Given the description of an element on the screen output the (x, y) to click on. 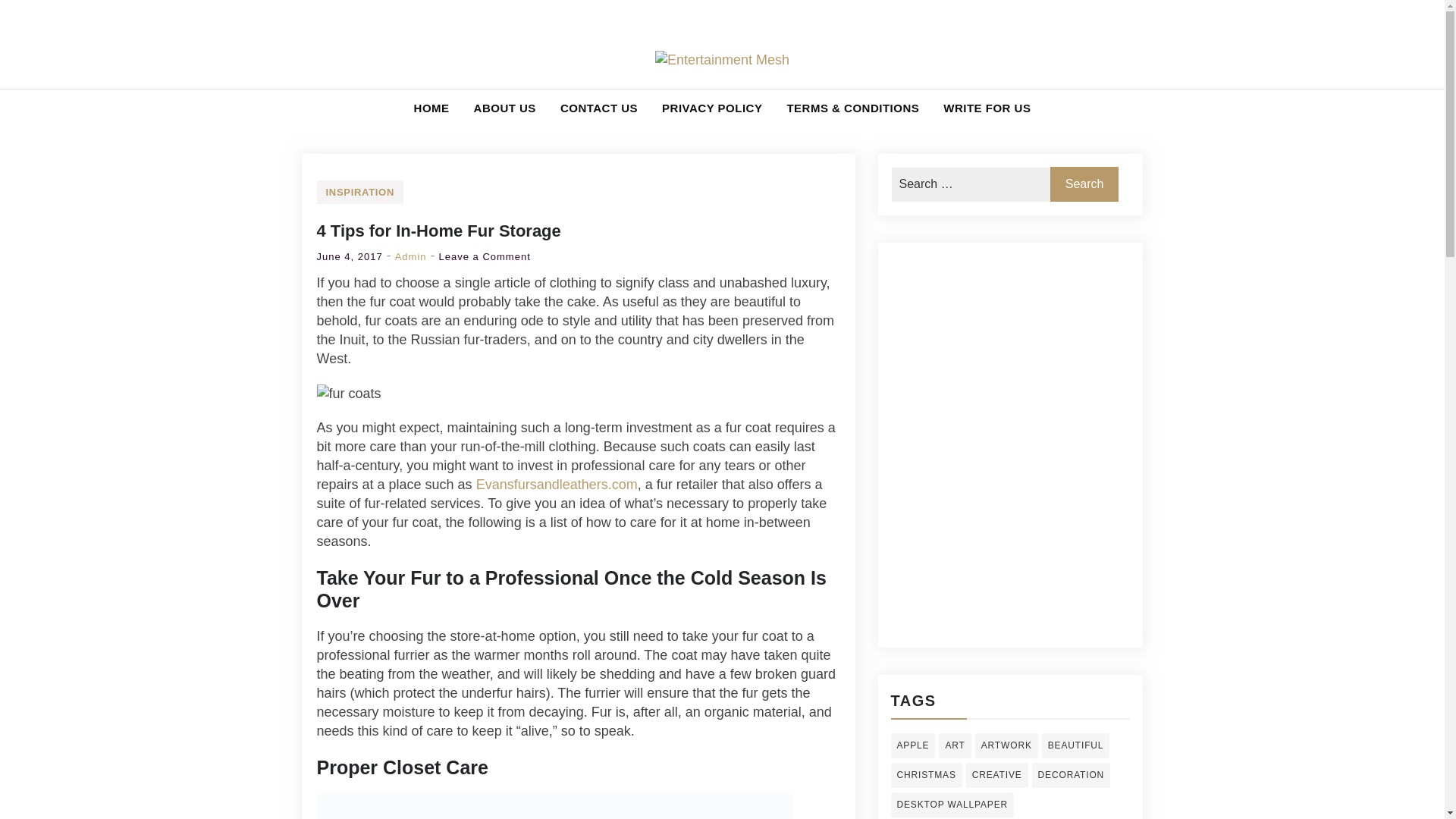
Admin (410, 256)
June 4, 2017 (349, 256)
Evansfursandleathers.com (556, 483)
CREATIVE (996, 774)
ART (955, 745)
Search (1084, 184)
PRIVACY POLICY (711, 107)
4 Tips for In-Home Fur Storage (438, 230)
HOME (485, 256)
ABOUT US (431, 107)
DESKTOP WALLPAPER (504, 107)
Search (951, 804)
Search (46, 31)
Search (1084, 184)
